Given the description of an element on the screen output the (x, y) to click on. 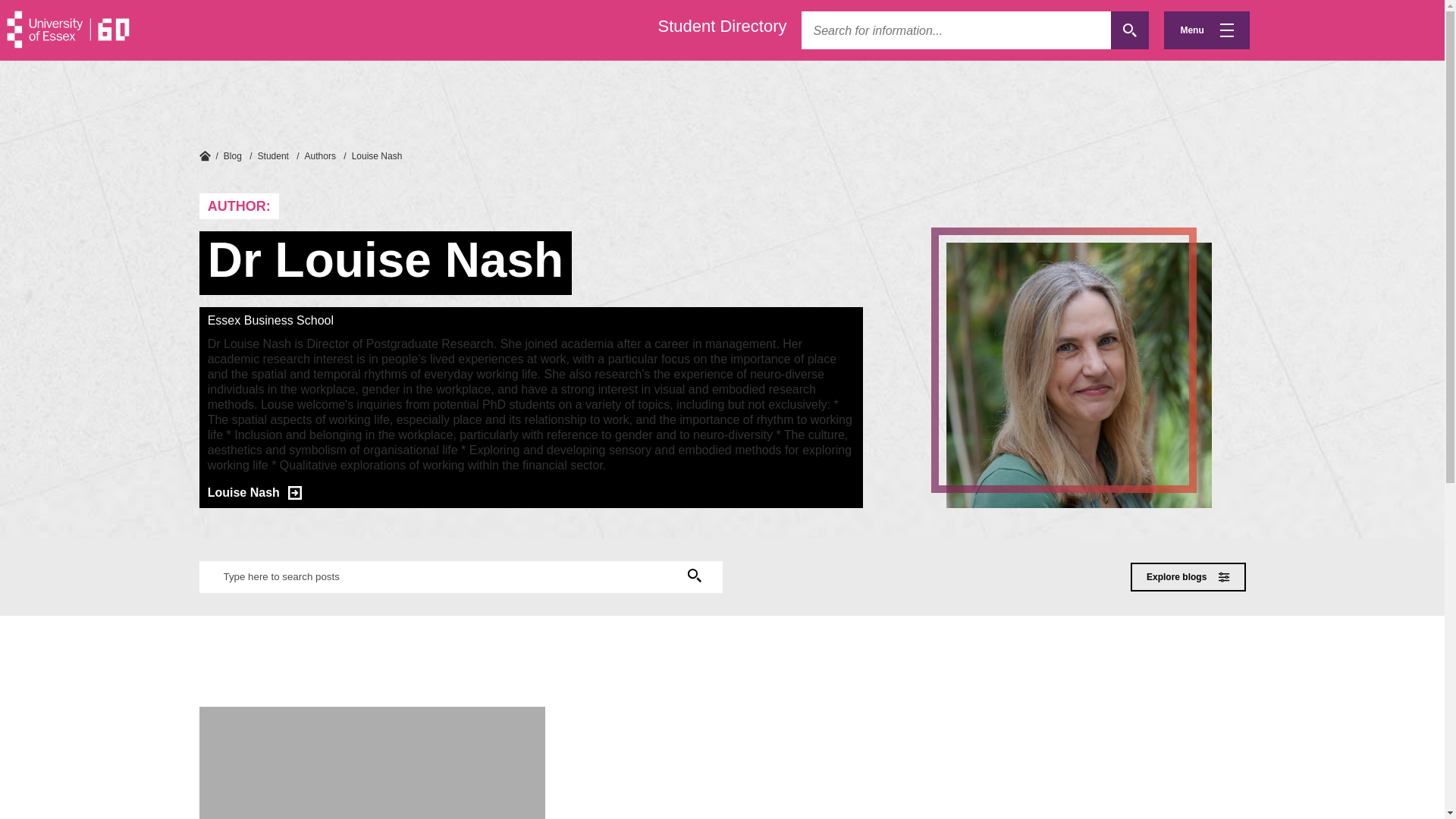
Menu (1206, 30)
Search for information... (955, 30)
Student Directory (722, 26)
University of Essex homepage (203, 155)
